Given the description of an element on the screen output the (x, y) to click on. 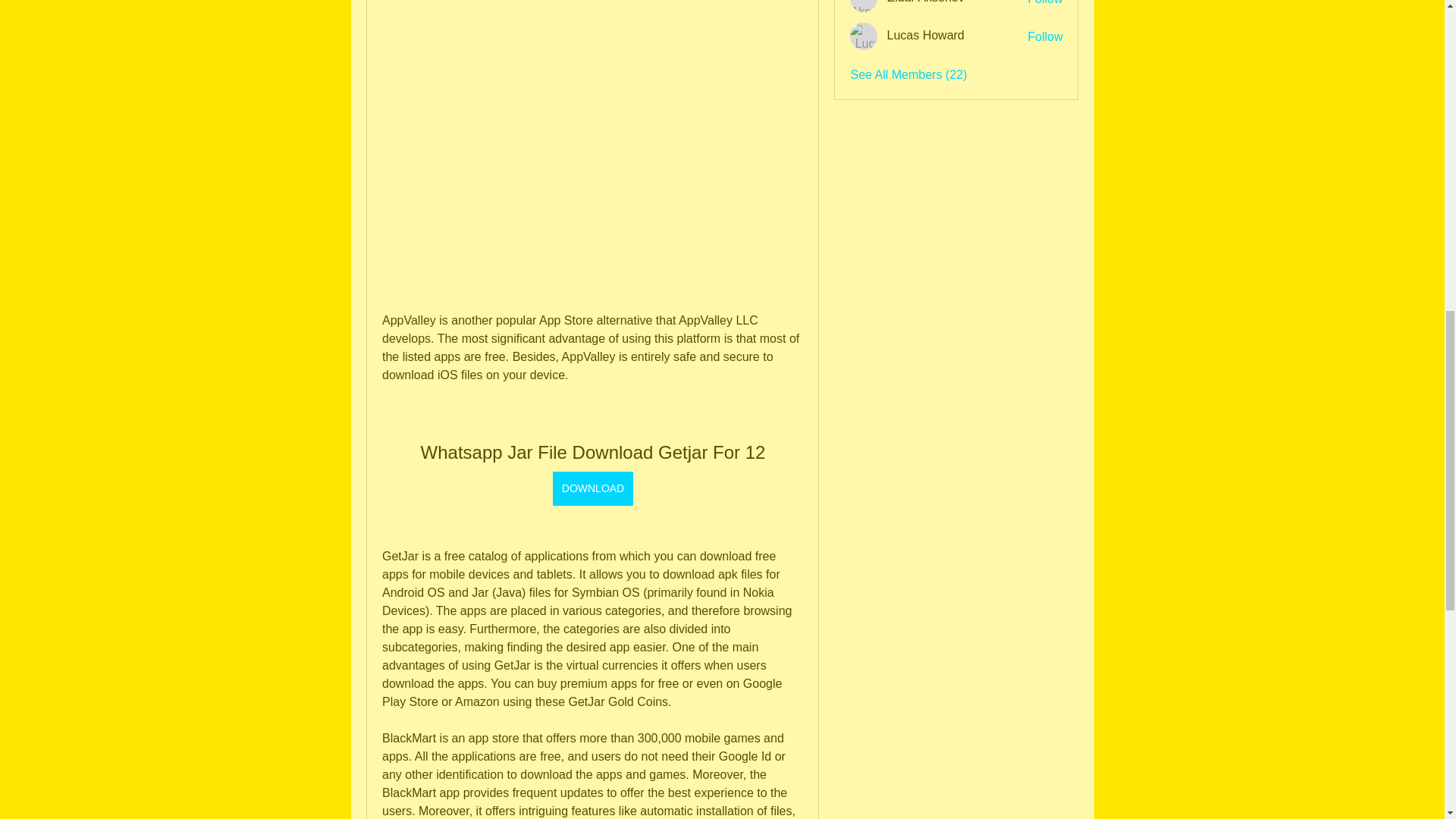
DOWNLOAD (591, 488)
Eldar Aksenov (863, 6)
Follow (1044, 36)
Eldar Aksenov (924, 2)
Lucas Howard (863, 35)
Lucas Howard (924, 34)
Follow (1044, 3)
